Given the description of an element on the screen output the (x, y) to click on. 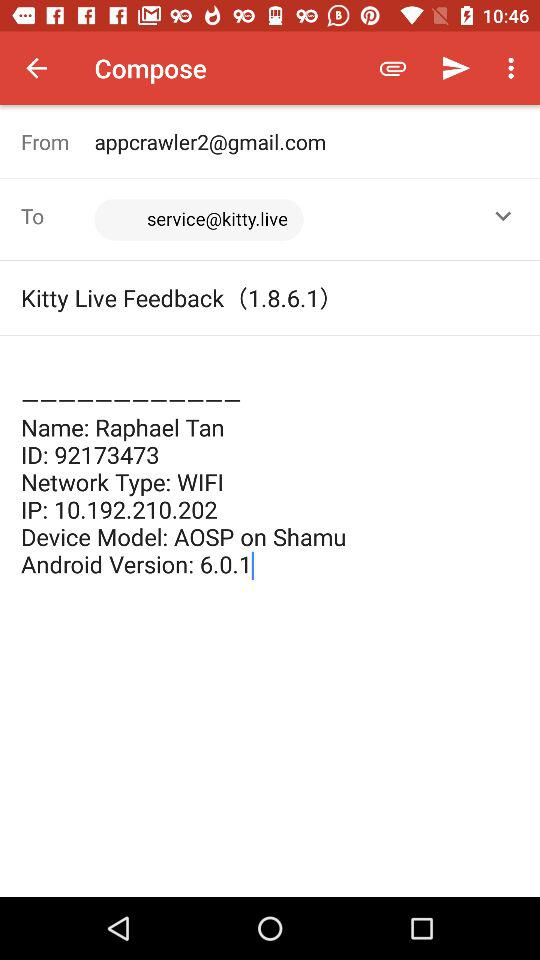
turn on the icon next to the <service@kitty.live>, (57, 215)
